Given the description of an element on the screen output the (x, y) to click on. 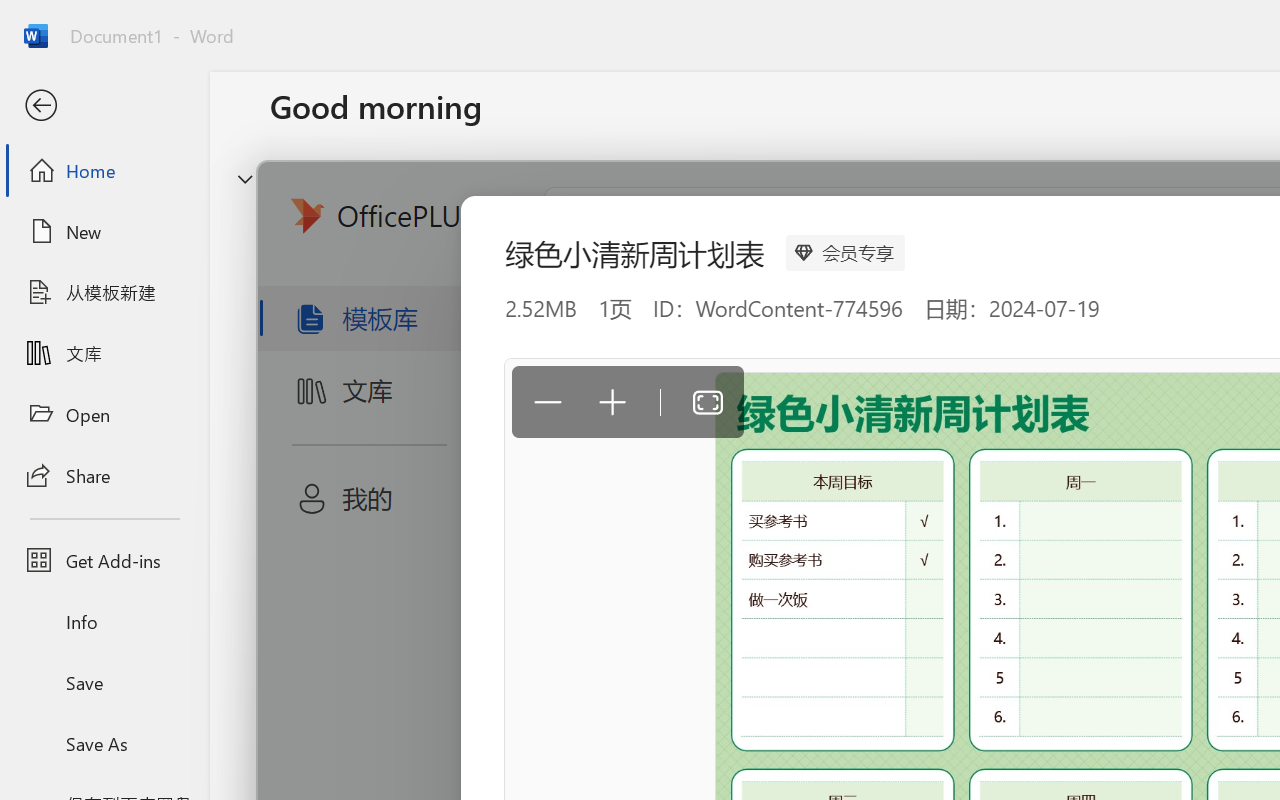
New (104, 231)
Back (104, 106)
Save As (104, 743)
Info (104, 621)
Get Add-ins (104, 560)
